Given the description of an element on the screen output the (x, y) to click on. 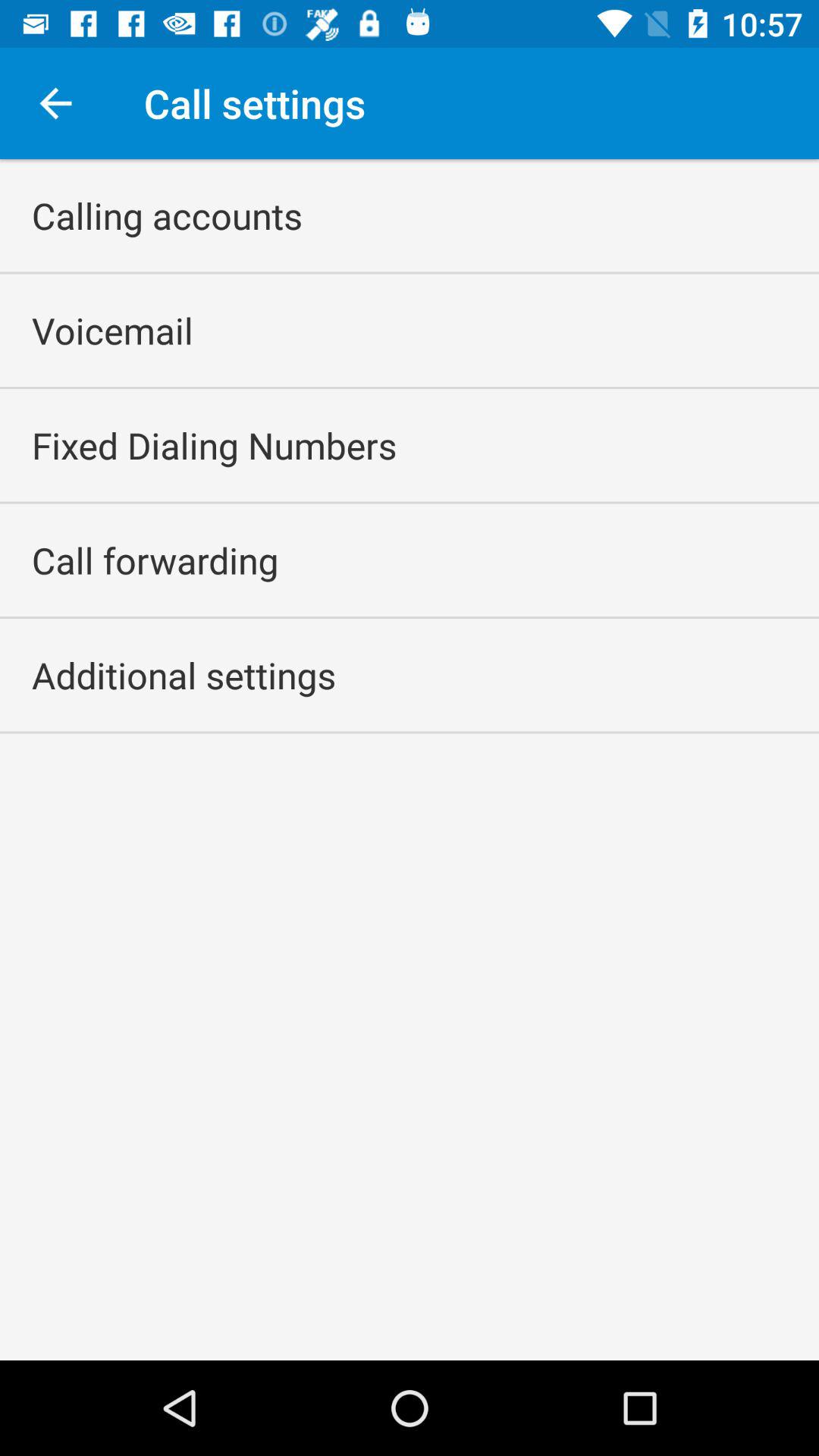
tap item above calling accounts (55, 103)
